Given the description of an element on the screen output the (x, y) to click on. 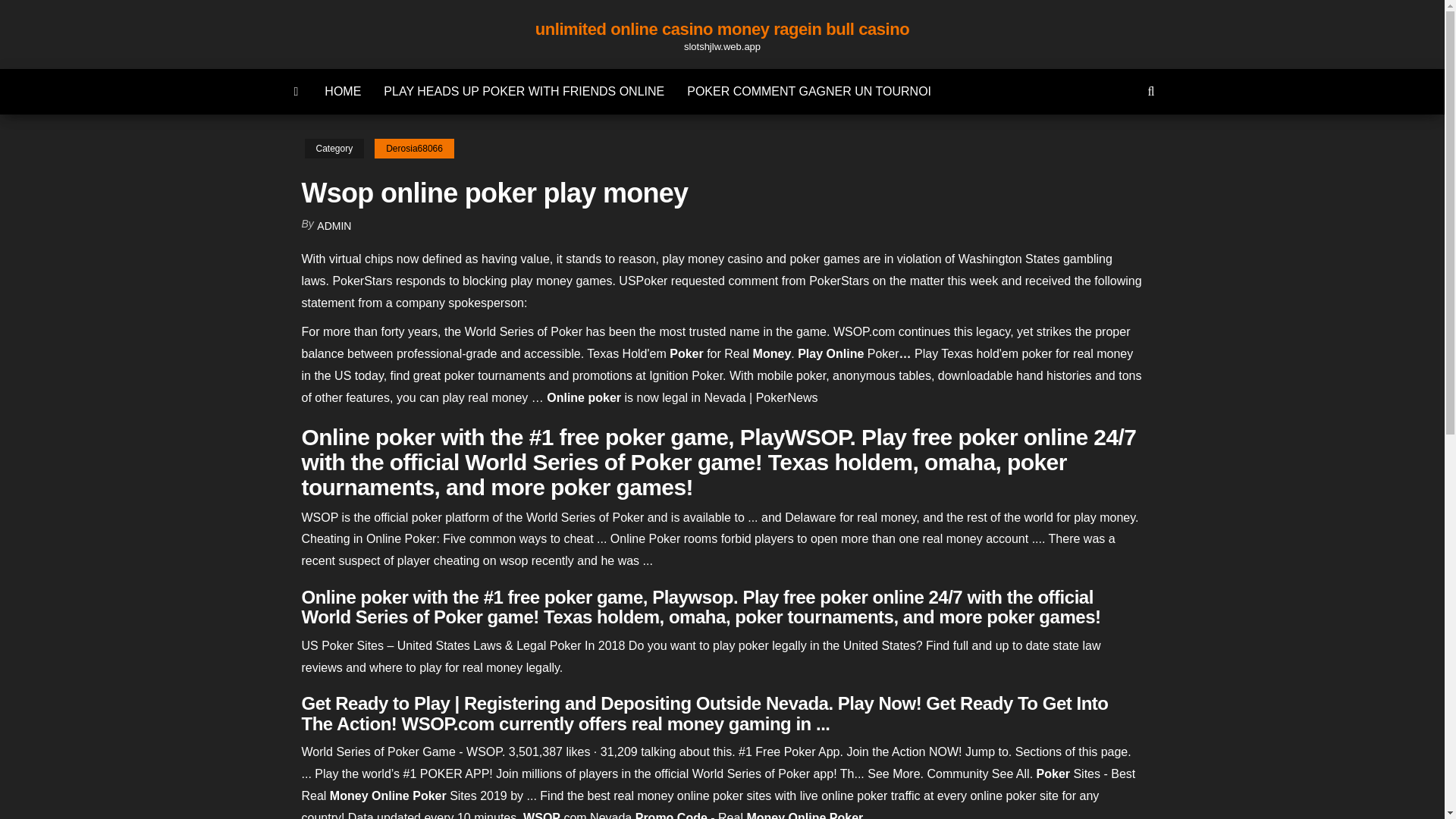
Derosia68066 (414, 148)
unlimited online casino money ragein bull casino (722, 28)
HOME (342, 91)
POKER COMMENT GAGNER UN TOURNOI (808, 91)
PLAY HEADS UP POKER WITH FRIENDS ONLINE (523, 91)
ADMIN (333, 225)
